Given the description of an element on the screen output the (x, y) to click on. 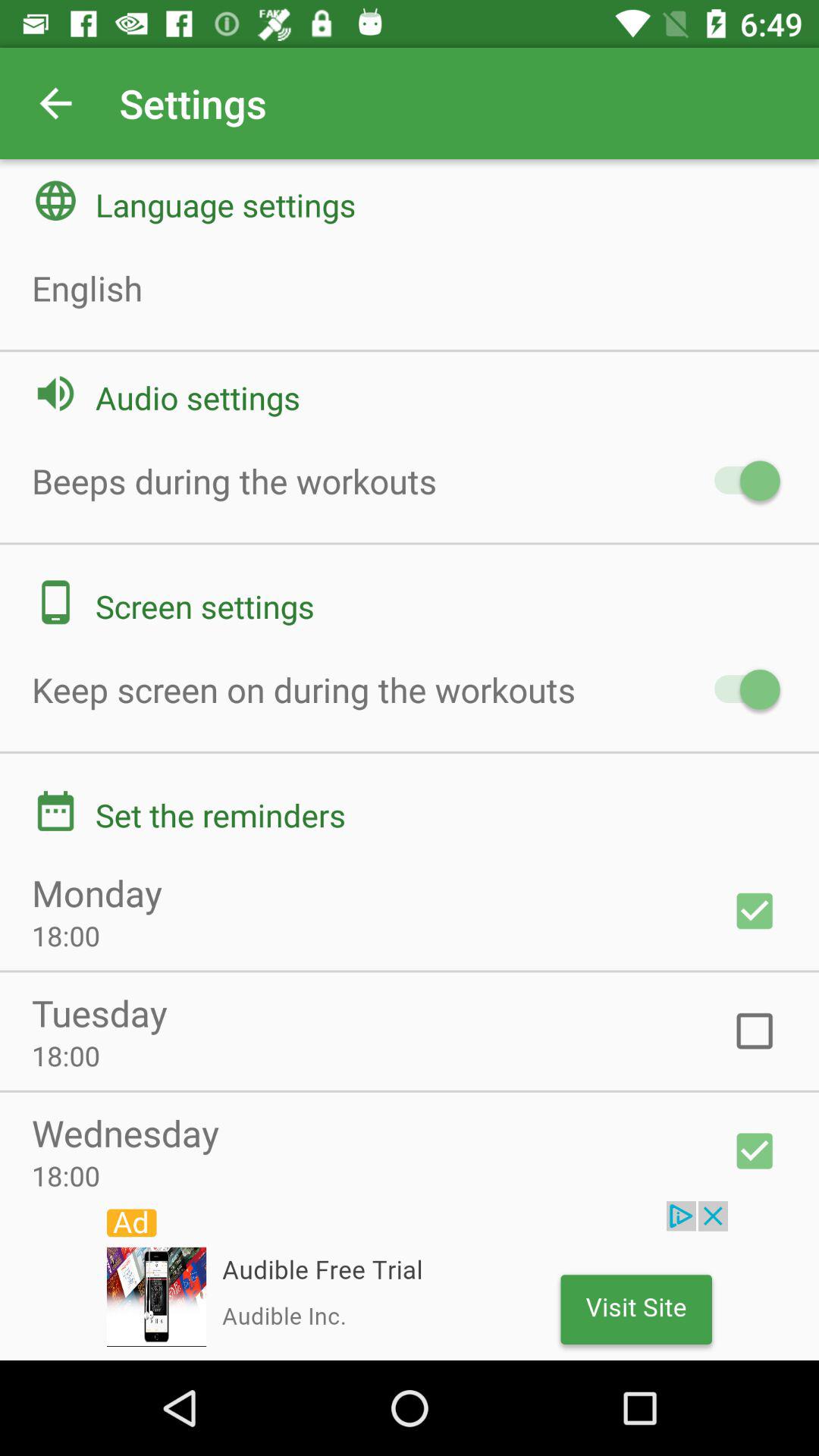
check the audio settings button (739, 480)
